Given the description of an element on the screen output the (x, y) to click on. 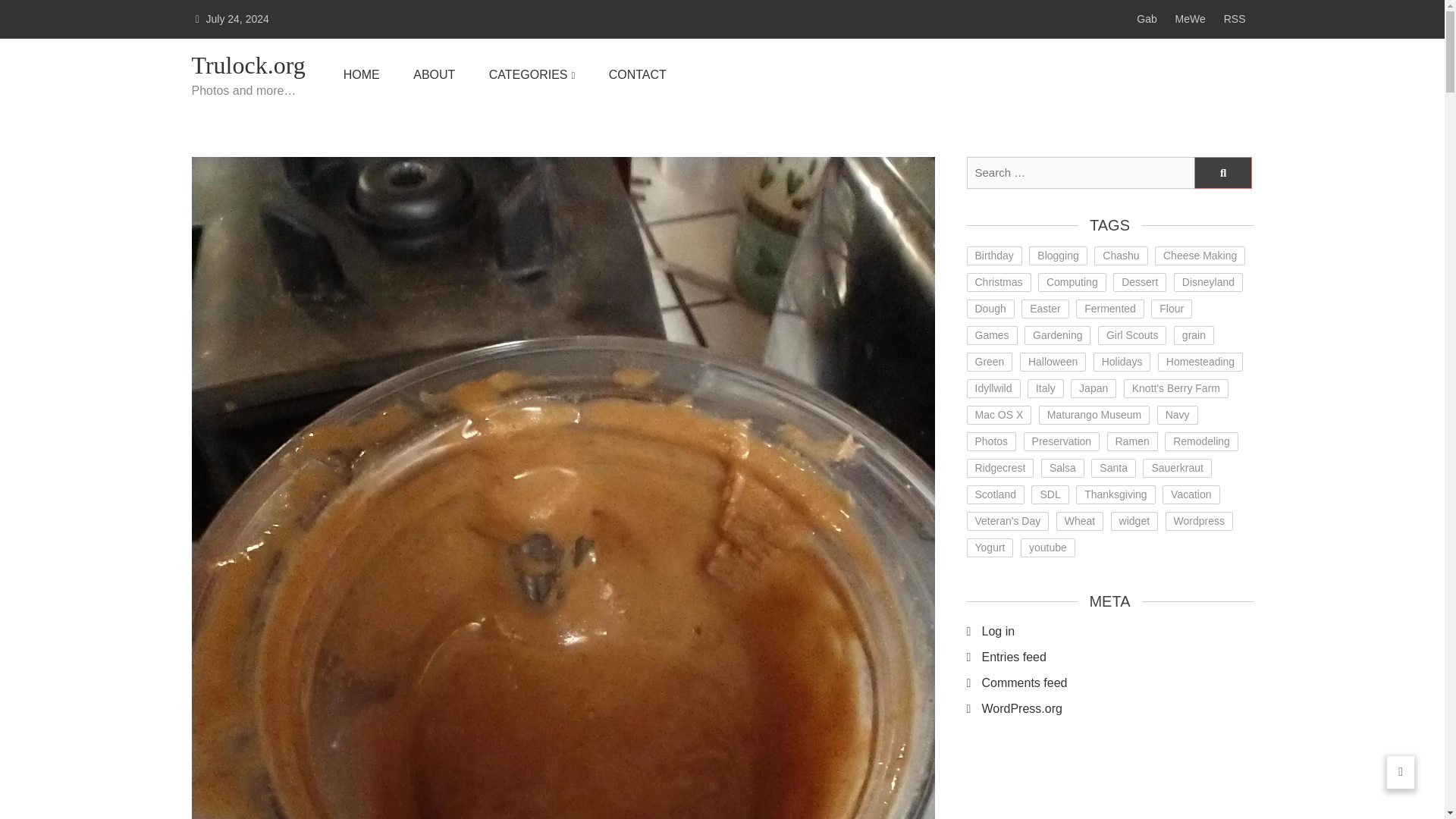
RSS (1235, 19)
HOME (361, 75)
ABOUT (433, 75)
CONTACT (637, 75)
CATEGORIES (532, 75)
Trulock.org (247, 65)
Gab (1146, 19)
MeWe (1189, 19)
